Given the description of an element on the screen output the (x, y) to click on. 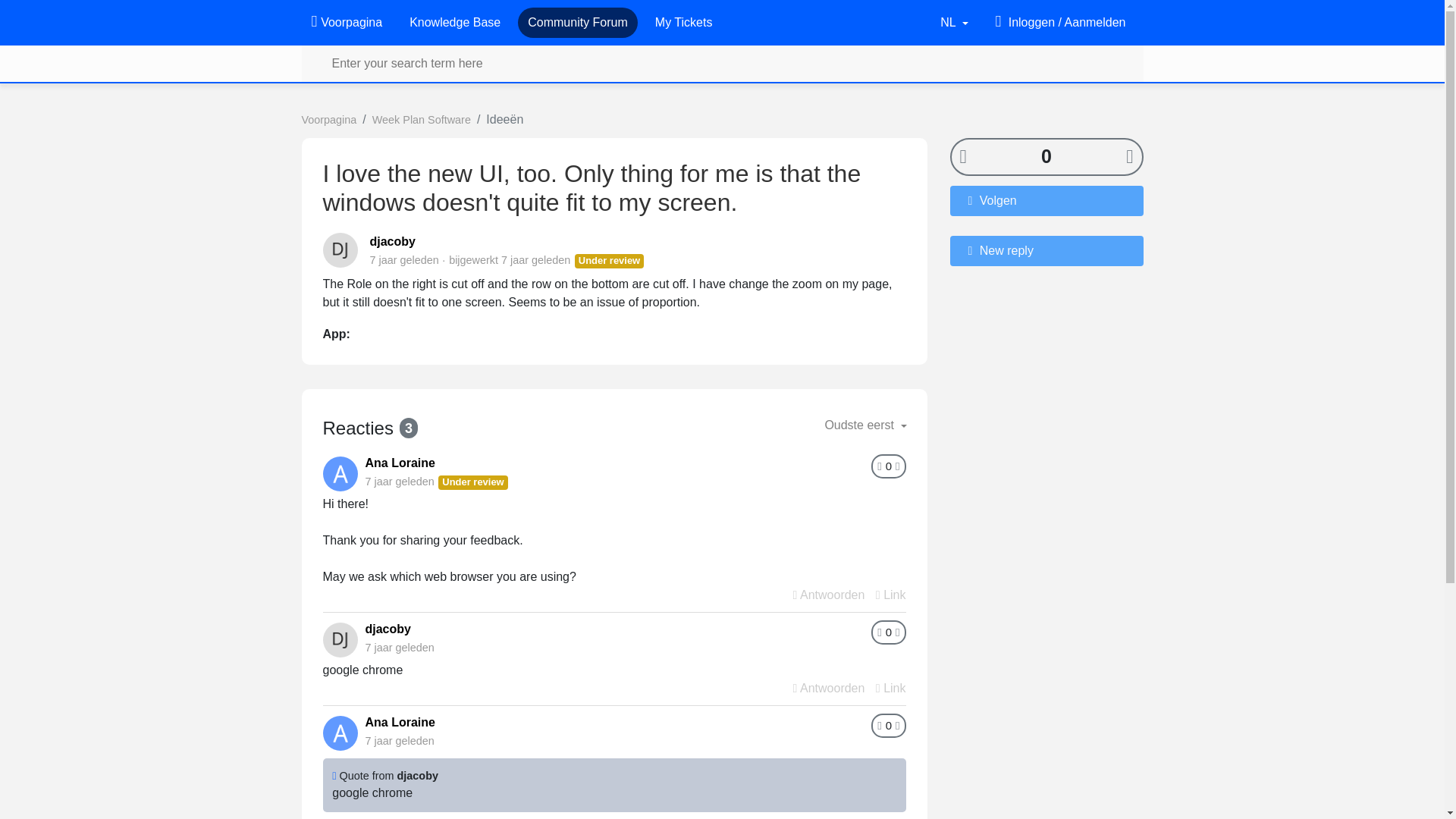
Community Forum (577, 22)
Volgen (1045, 200)
4 januari 2018 14:21 (535, 259)
New reply (1045, 250)
Ana Loraine (400, 462)
4 januari 2018 14:21 (399, 740)
NL (954, 22)
Voorpagina (328, 119)
Link (890, 594)
Oudste eerst (865, 425)
